Given the description of an element on the screen output the (x, y) to click on. 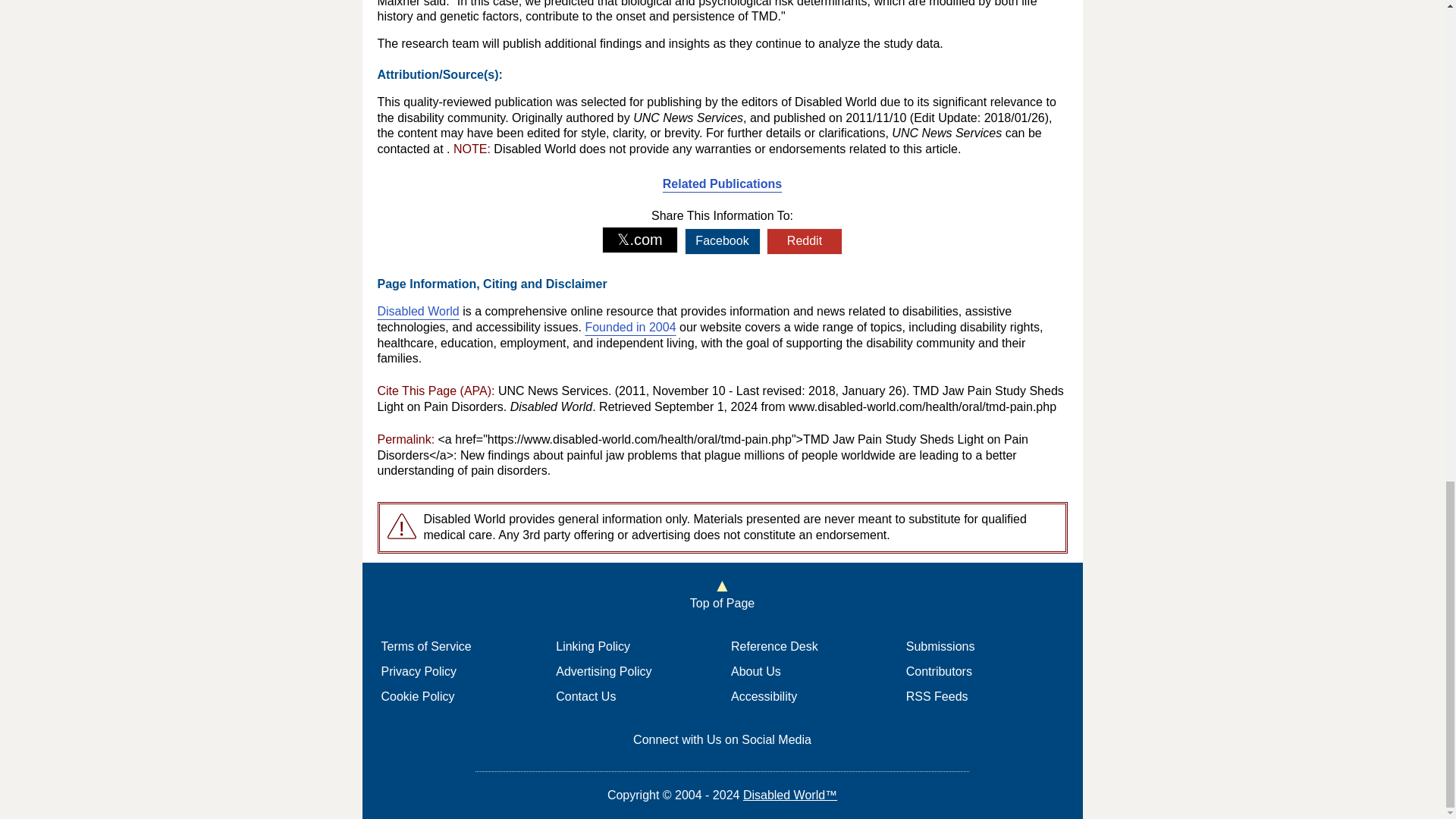
Founded in 2004 (630, 327)
Disabled World (418, 310)
Advertising Policy (603, 671)
Privacy Policy (418, 671)
Contact Us (585, 696)
Terms of Service (425, 645)
Linking Policy (593, 645)
Share on X (640, 239)
Cookie Policy (417, 696)
